Given the description of an element on the screen output the (x, y) to click on. 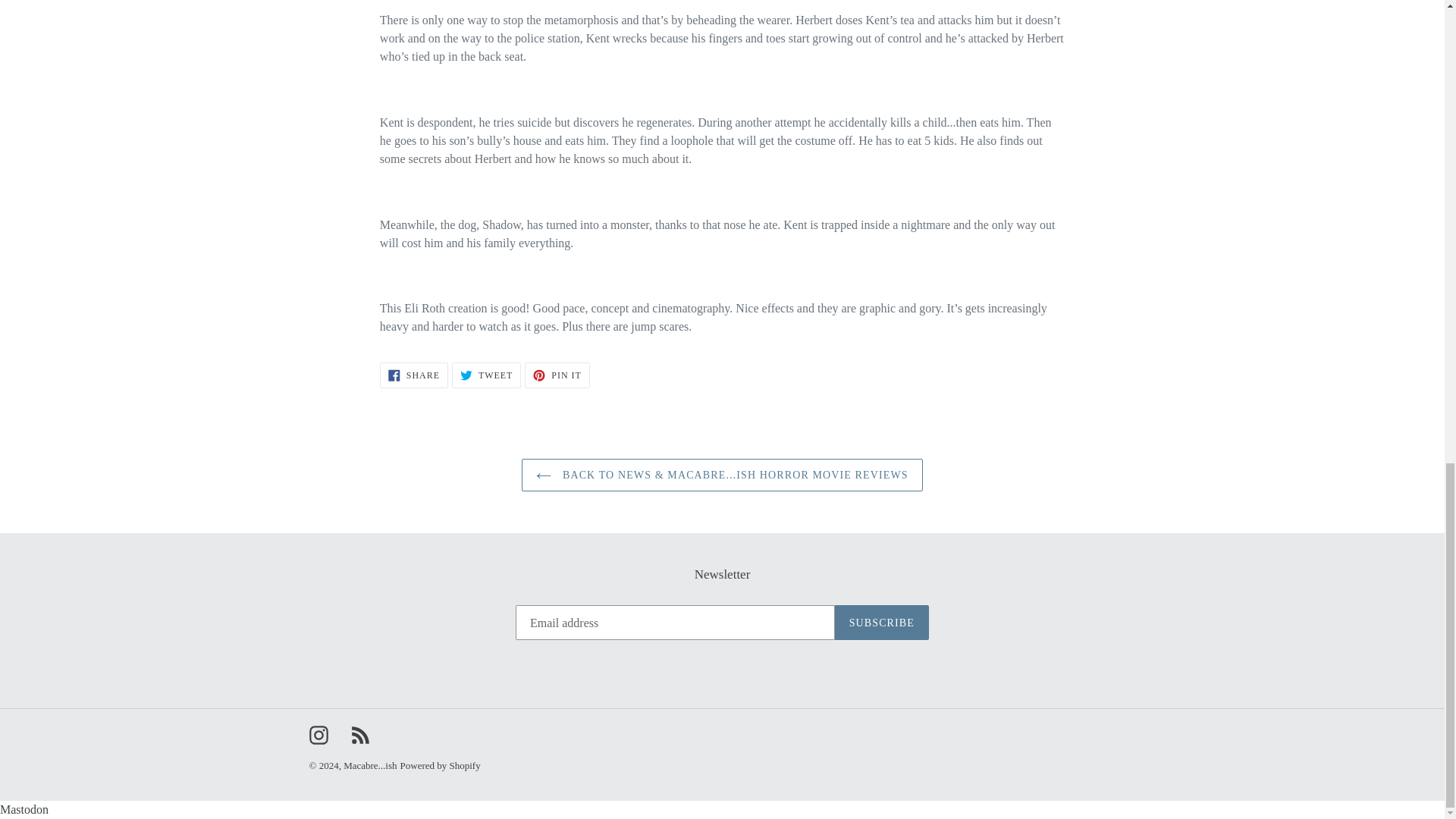
RSS (359, 734)
Macabre...ish (556, 375)
Powered by Shopify (414, 375)
SUBSCRIBE (369, 765)
Mastodon (486, 375)
Instagram (440, 765)
